Given the description of an element on the screen output the (x, y) to click on. 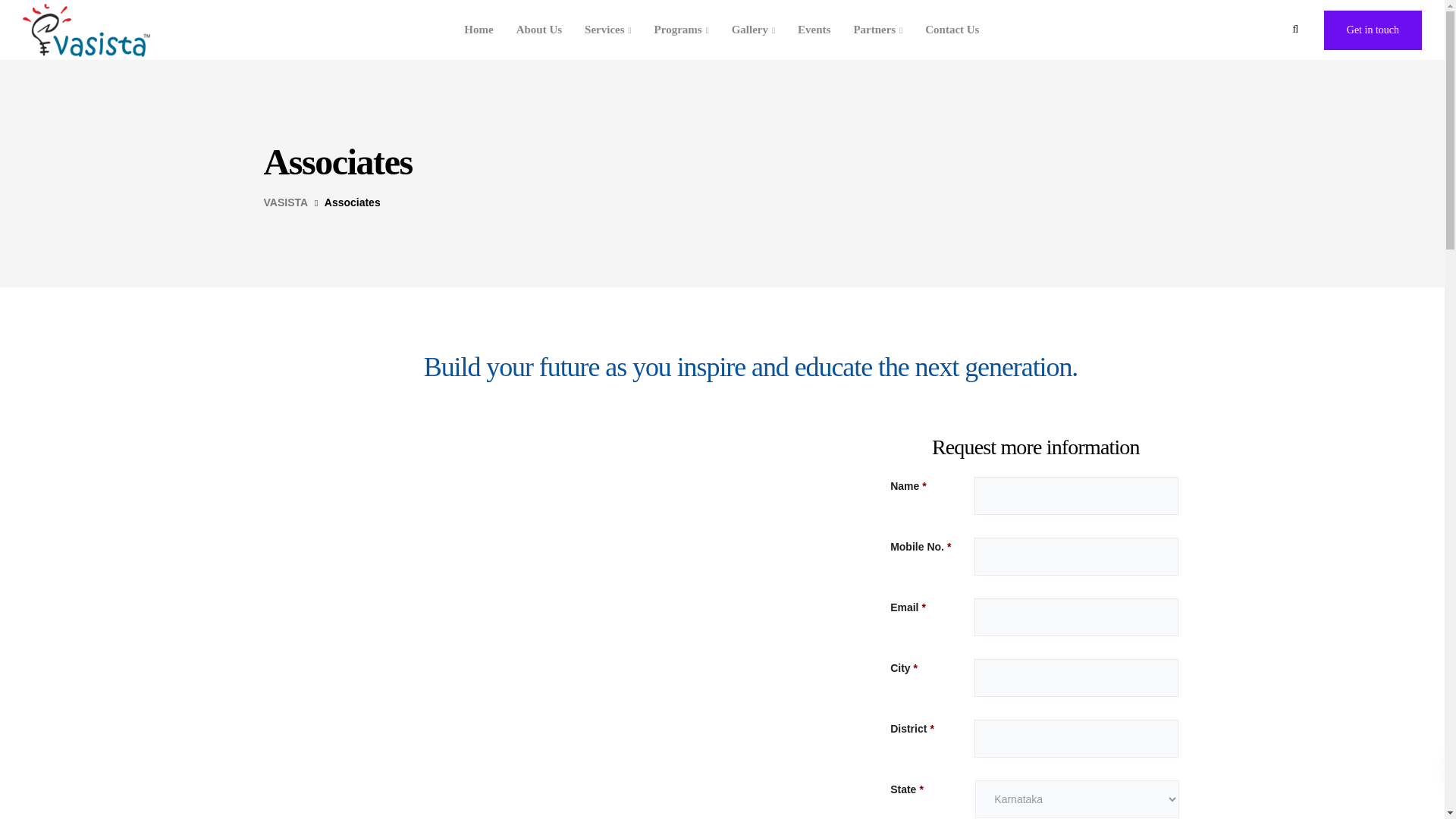
Get in touch (1372, 29)
Contact Us (952, 29)
Gallery (753, 29)
Programs (681, 29)
About Us (539, 29)
Programs (681, 29)
Services (608, 29)
Events (813, 29)
Partners (877, 29)
About Us (539, 29)
Services (608, 29)
VASISTA (285, 202)
Gallery (753, 29)
